Given the description of an element on the screen output the (x, y) to click on. 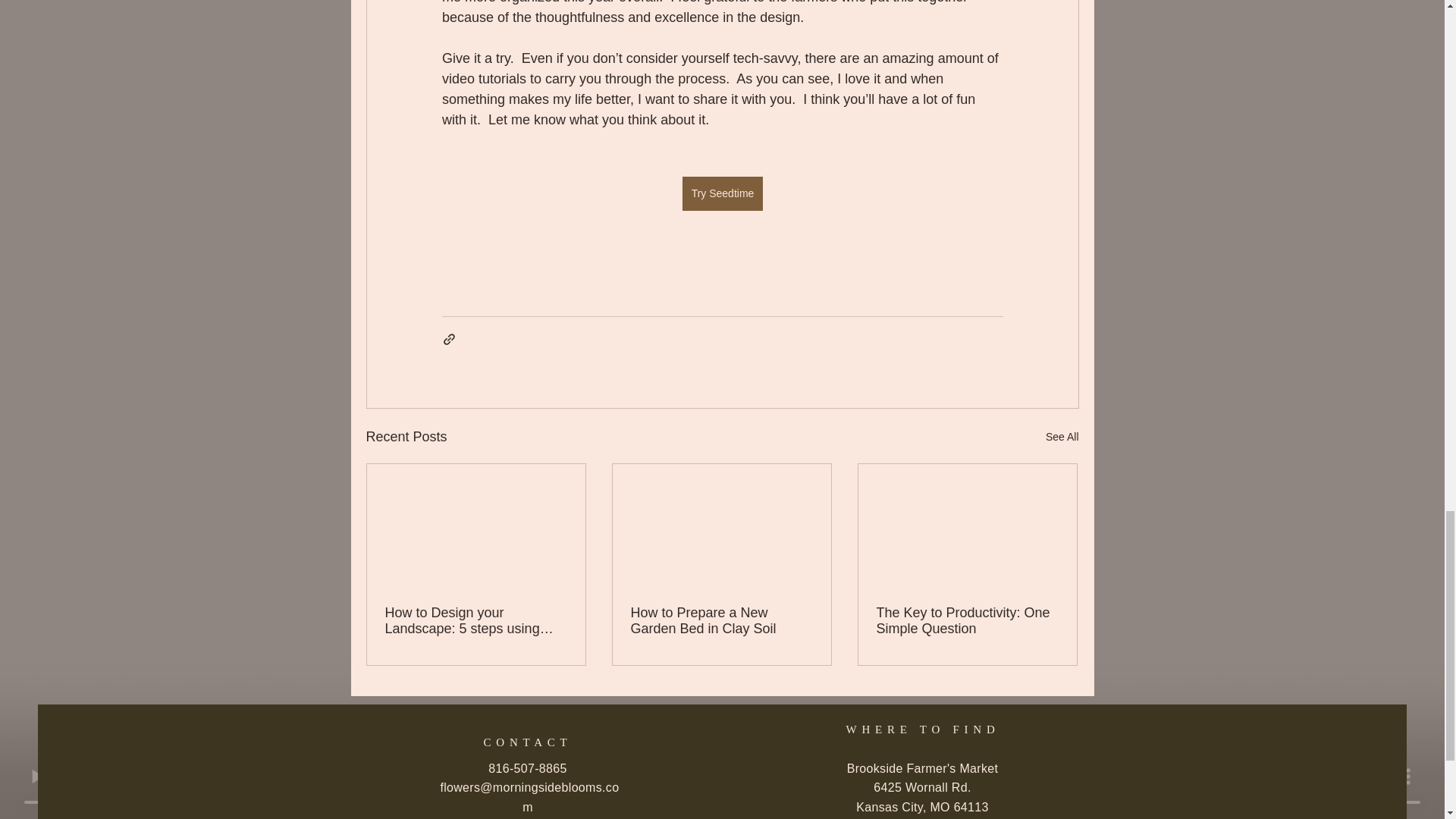
The Key to Productivity: One Simple Question (967, 621)
See All (1061, 436)
Try Seedtime (721, 194)
How to Prepare a New Garden Bed in Clay Soil (721, 621)
